Given the description of an element on the screen output the (x, y) to click on. 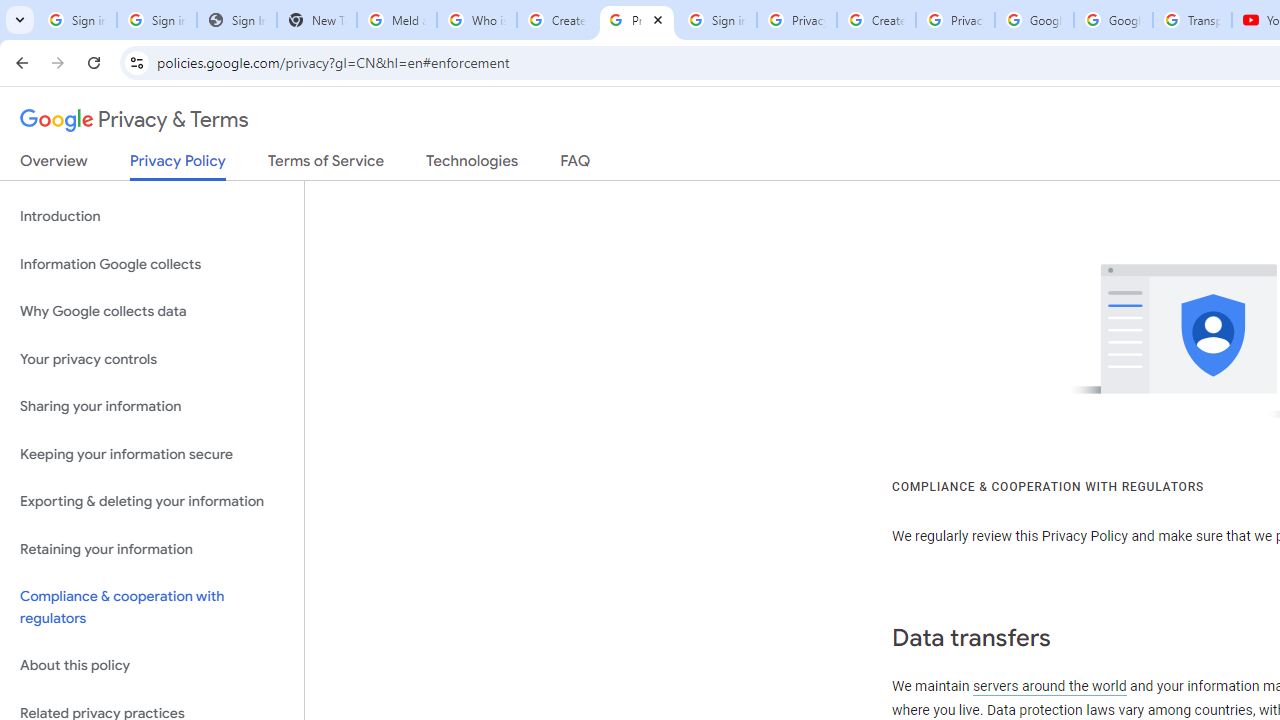
Who is my administrator? - Google Account Help (476, 20)
New Tab (316, 20)
Compliance & cooperation with regulators (152, 607)
Retaining your information (152, 548)
Sign in - Google Accounts (156, 20)
Sign In - USA TODAY (236, 20)
Google Account (1113, 20)
Your privacy controls (152, 358)
